Given the description of an element on the screen output the (x, y) to click on. 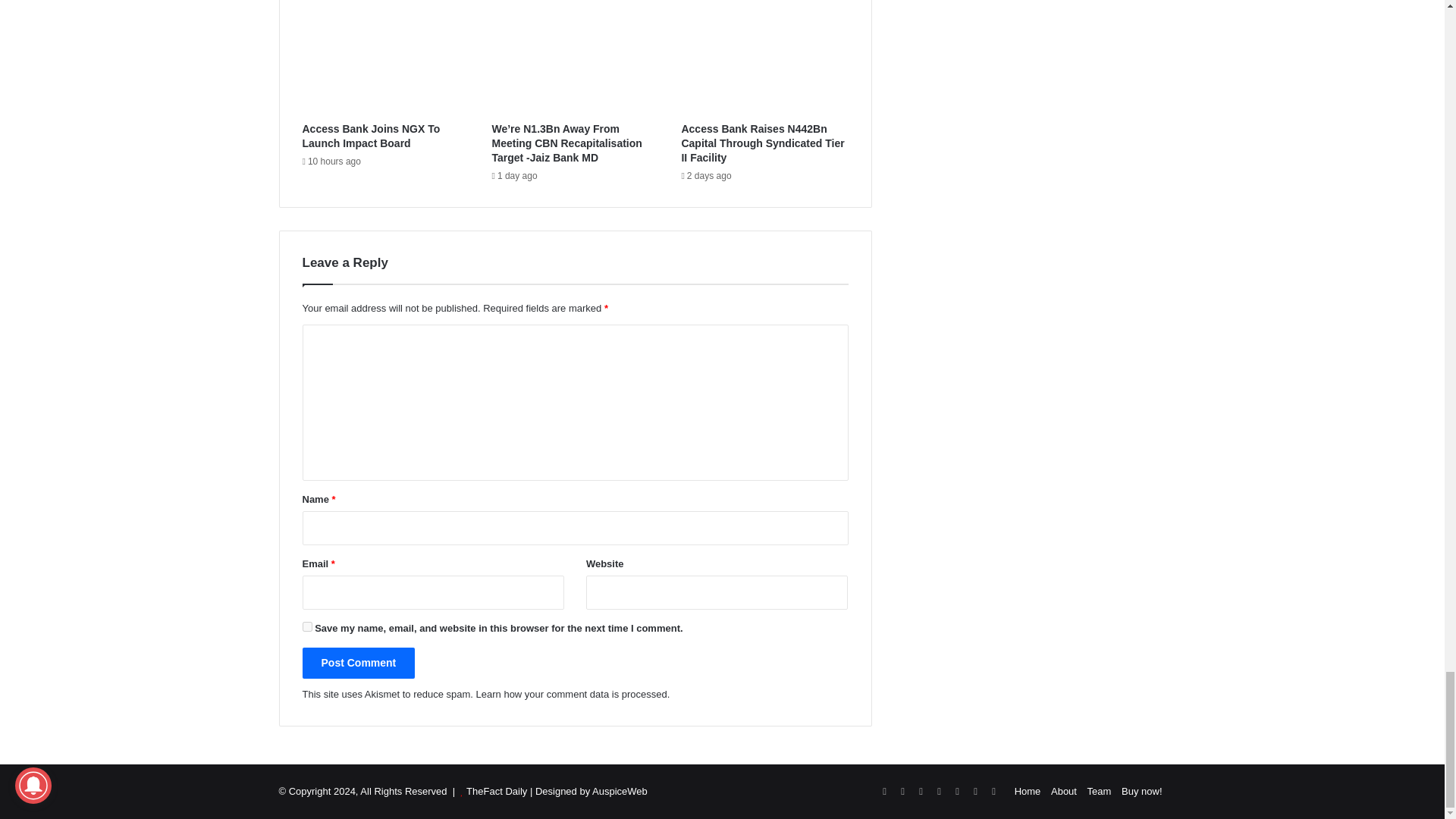
Post Comment (357, 662)
yes (306, 626)
